Given the description of an element on the screen output the (x, y) to click on. 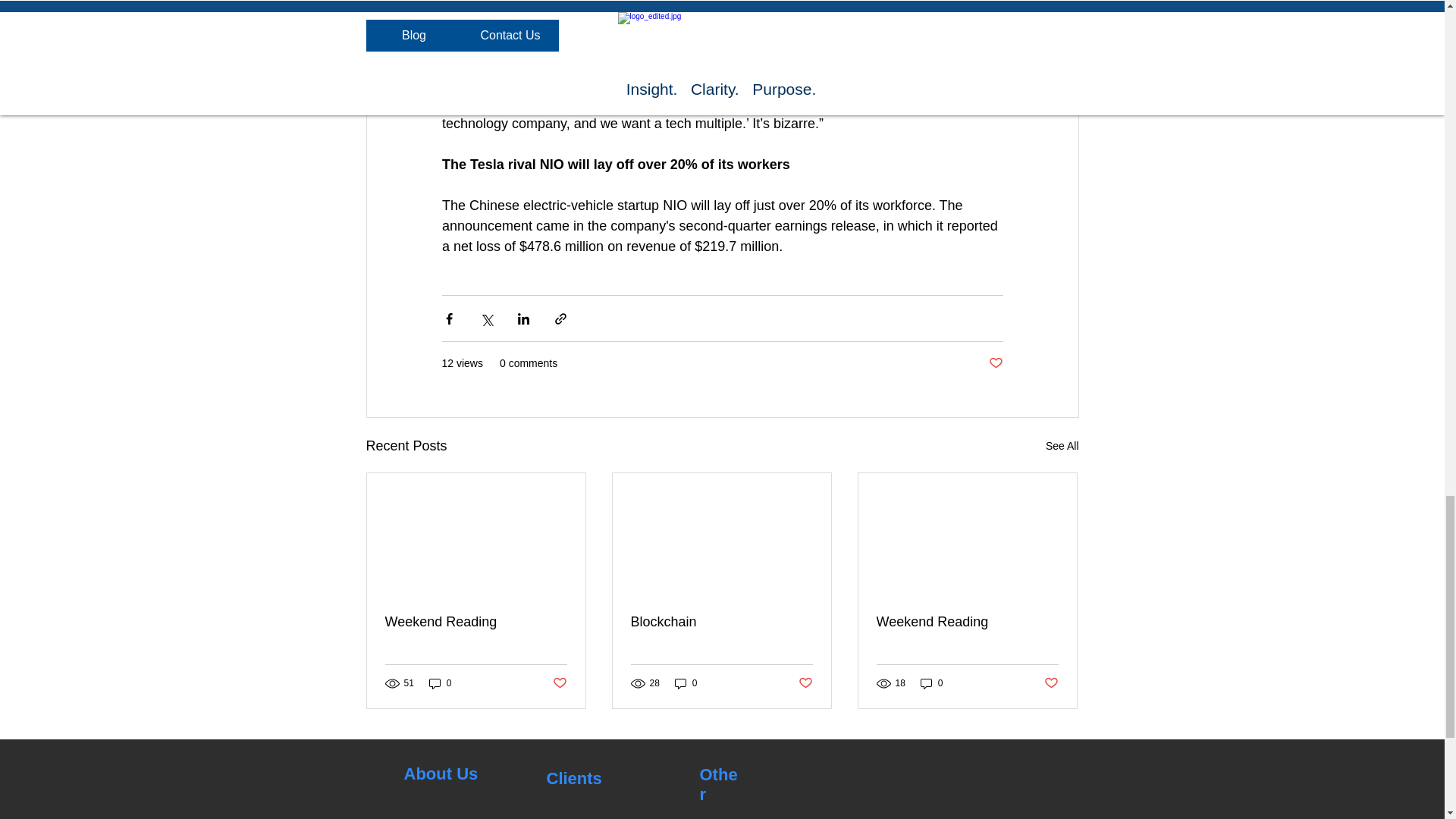
Post not marked as liked (804, 683)
Post not marked as liked (558, 683)
0 (685, 683)
See All (1061, 445)
0 (440, 683)
Post not marked as liked (995, 363)
Weekend Reading (476, 621)
0 (931, 683)
Post not marked as liked (1050, 683)
Blockchain (721, 621)
